Given the description of an element on the screen output the (x, y) to click on. 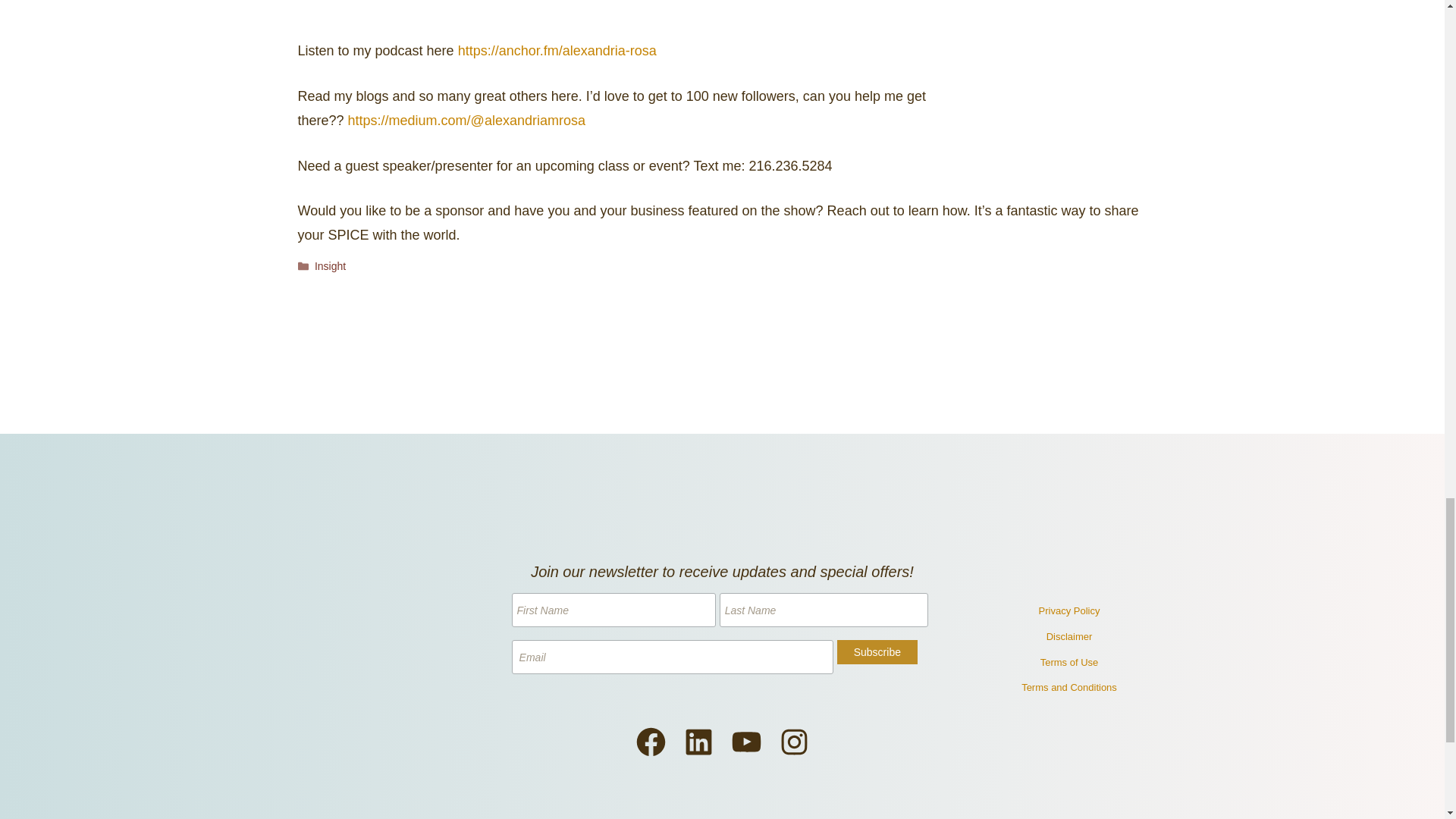
Terms and Conditions (1069, 687)
Subscribe (877, 651)
LinkedIn (697, 741)
Privacy Policy (1069, 610)
Subscribe (877, 651)
Terms of Use (1070, 661)
Insight (330, 265)
Disclaimer (1069, 636)
YouTube (745, 741)
Facebook (650, 741)
